Given the description of an element on the screen output the (x, y) to click on. 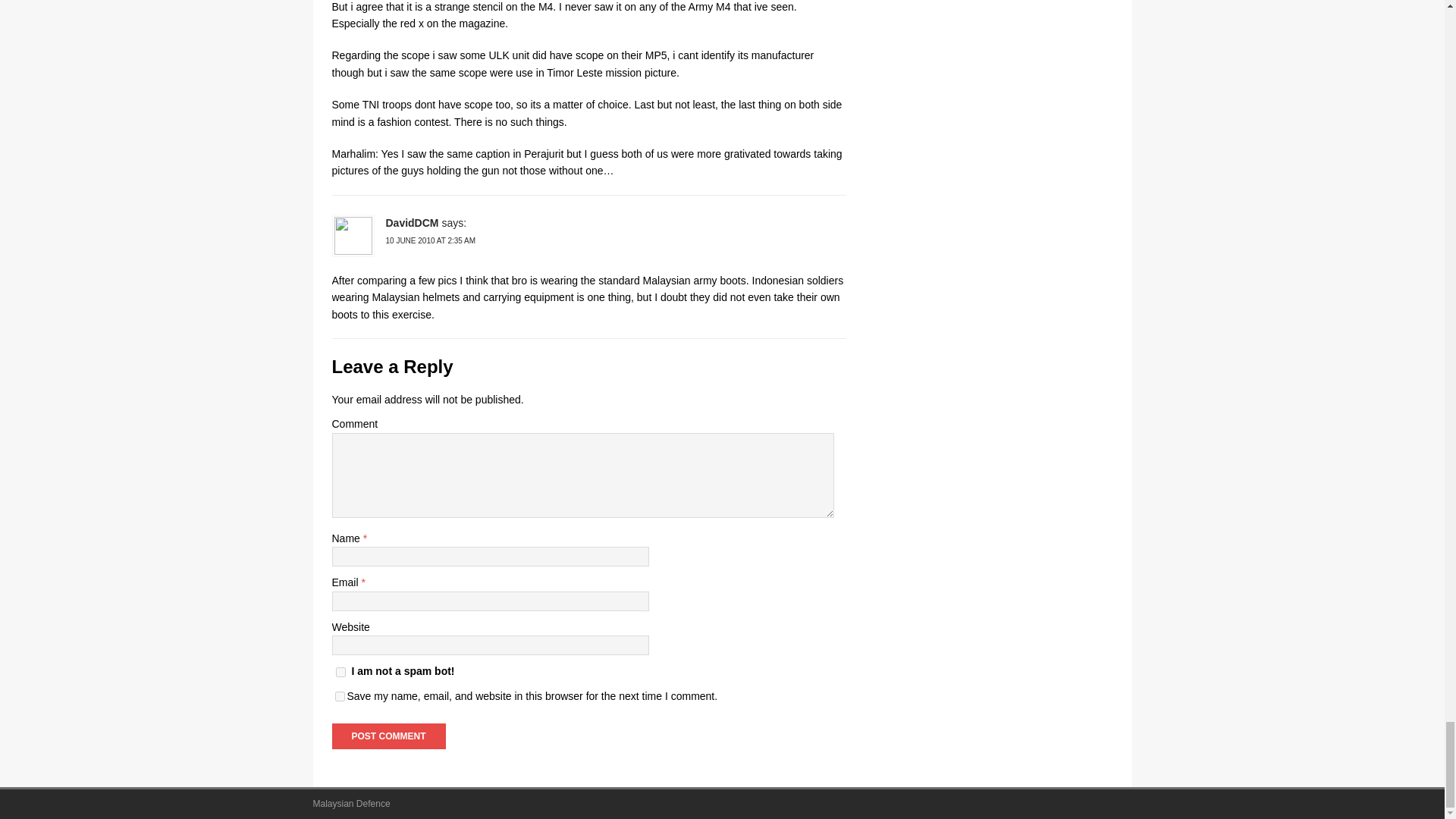
on (340, 672)
Post Comment (388, 736)
yes (339, 696)
